Given the description of an element on the screen output the (x, y) to click on. 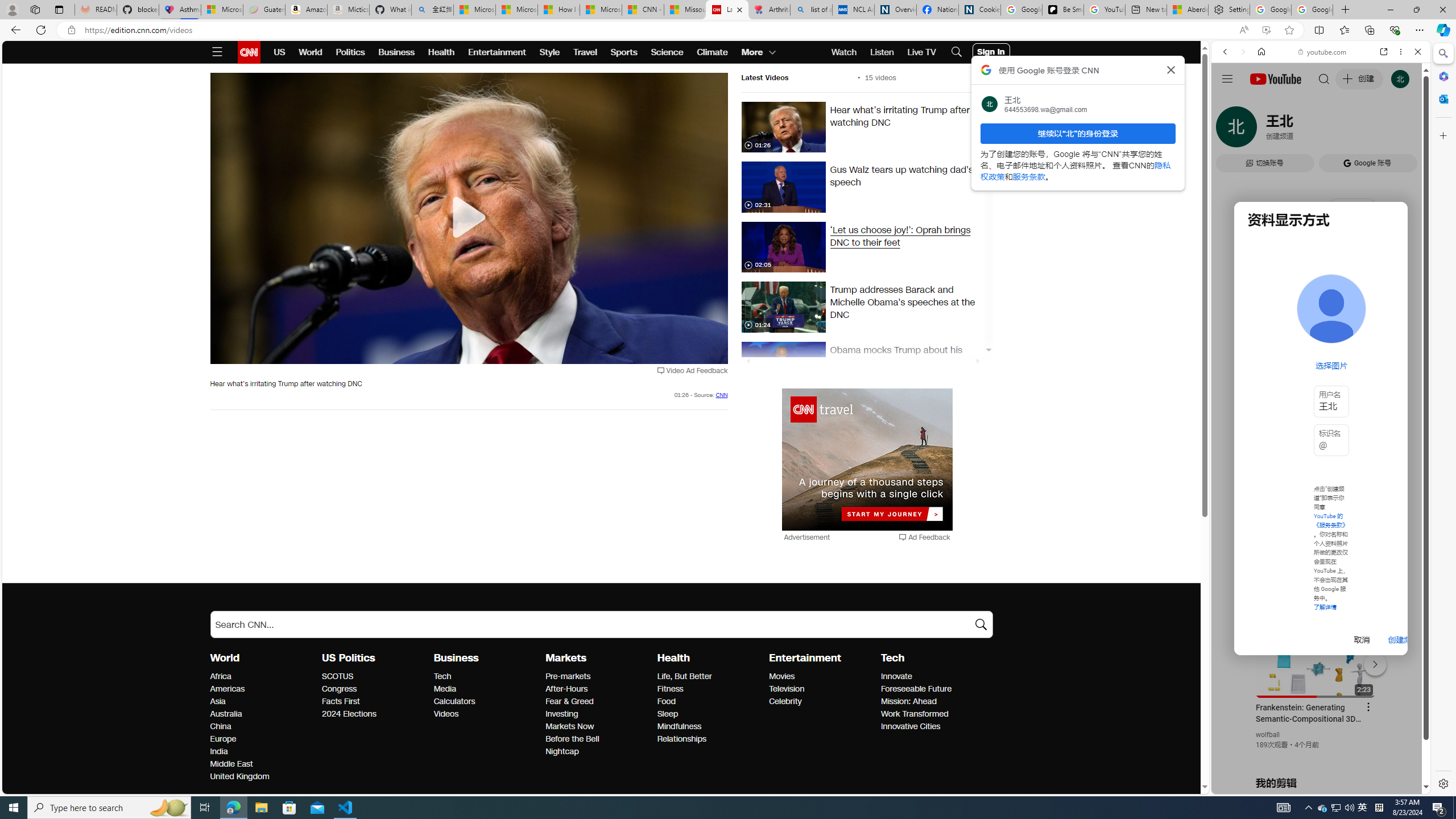
Latest Videos | CNN (726, 9)
US Politics (348, 657)
still_20889119_3870374.503_still.jpg (783, 367)
YouTube (1315, 655)
2024 Elections (373, 714)
World India (218, 751)
Listen (881, 52)
Markets After-Hours (567, 688)
